Given the description of an element on the screen output the (x, y) to click on. 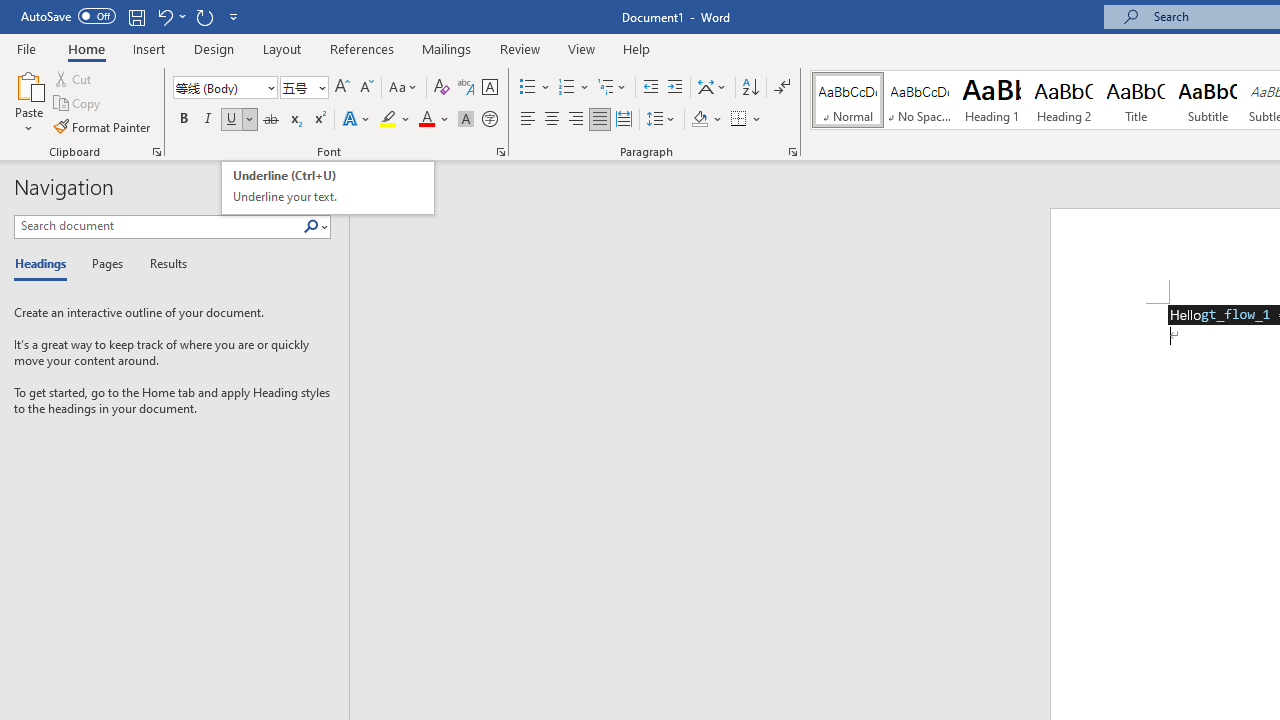
Font Color Red (328, 188)
